Given the description of an element on the screen output the (x, y) to click on. 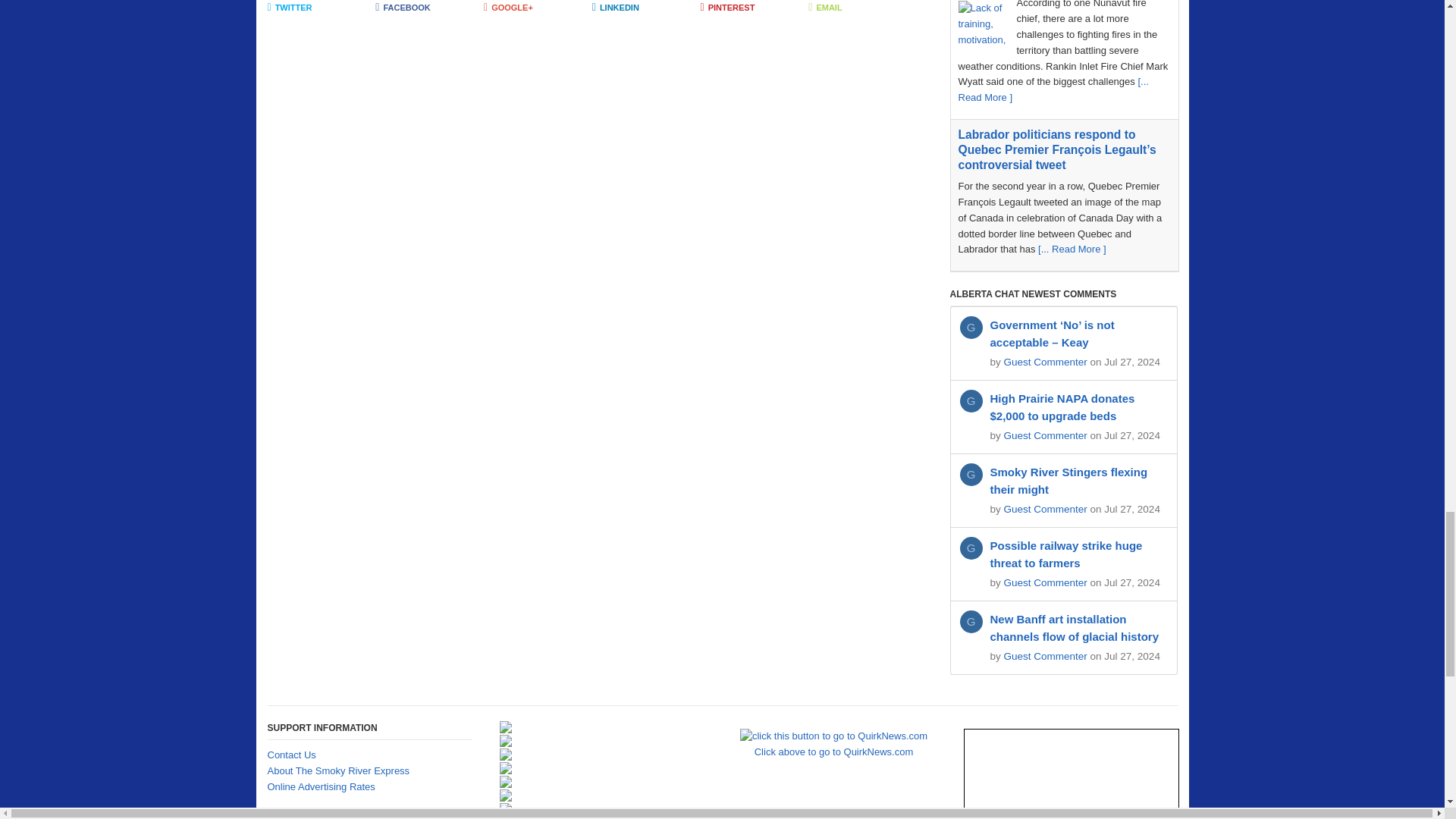
FACEBOOK (429, 8)
LINKEDIN (646, 8)
EMAIL (862, 8)
PINTEREST (754, 8)
TWITTER (320, 8)
